Given the description of an element on the screen output the (x, y) to click on. 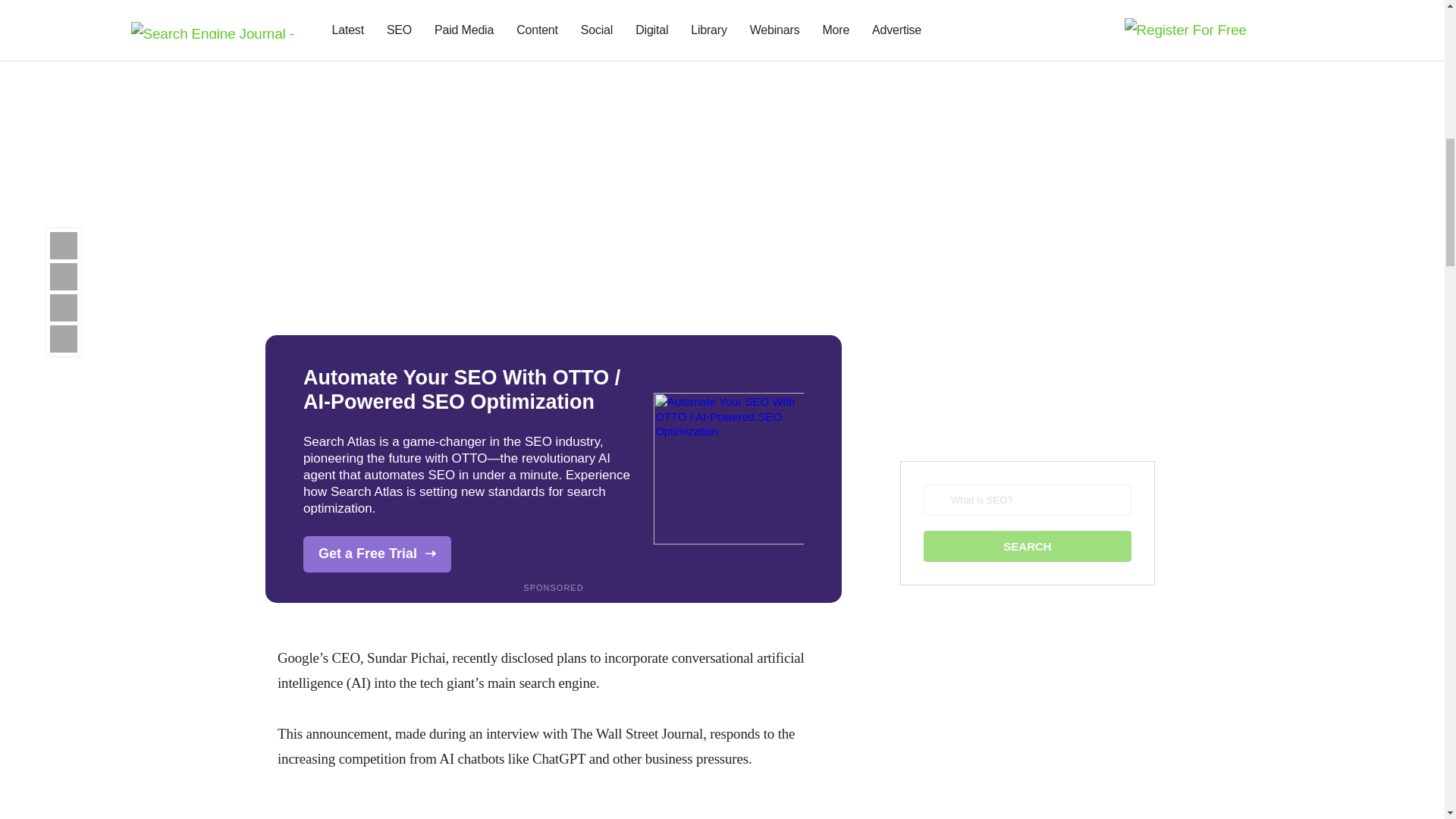
SEARCH (1027, 545)
SEARCH (1027, 545)
